Given the description of an element on the screen output the (x, y) to click on. 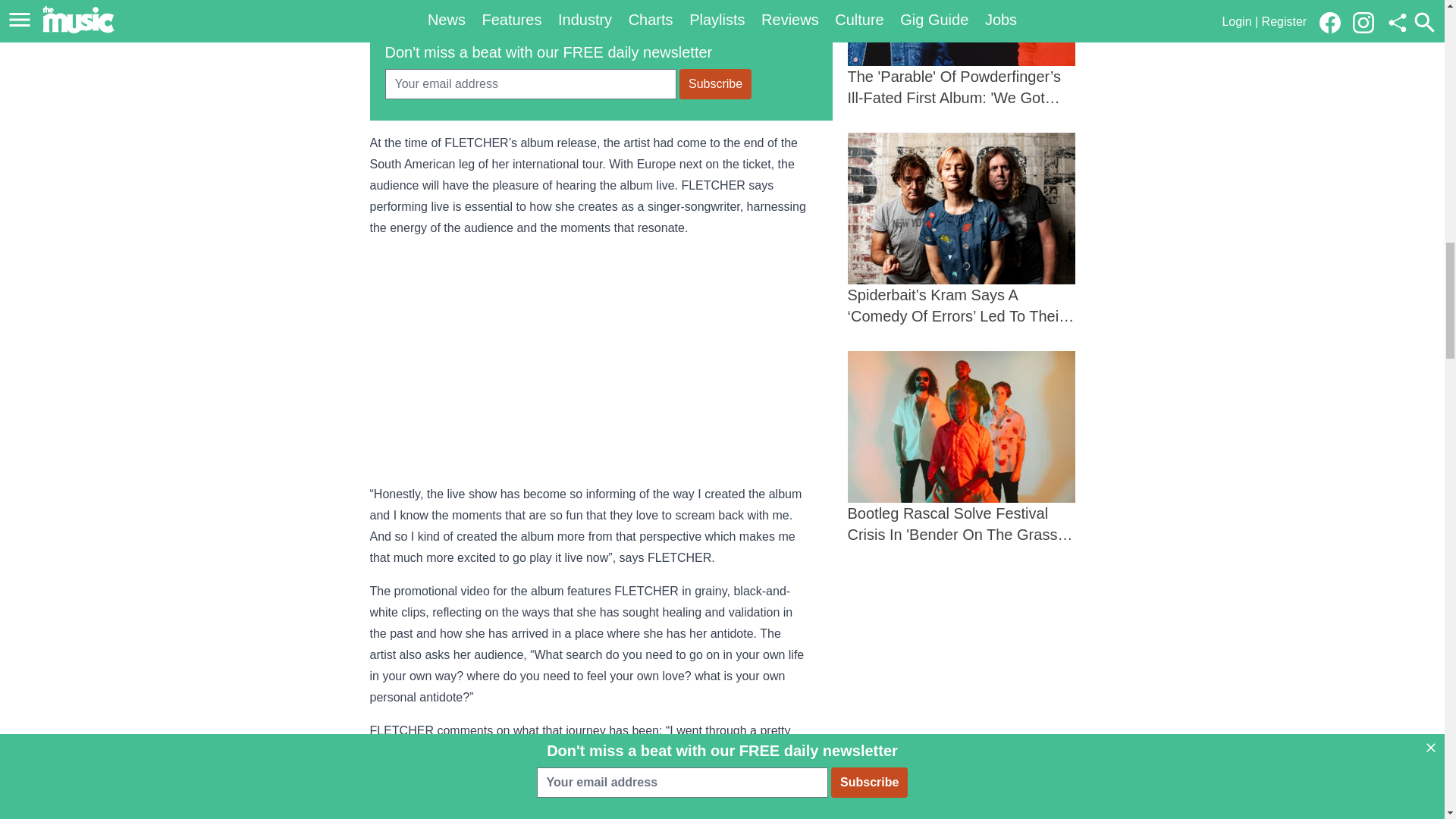
Subscribe (715, 83)
